Given the description of an element on the screen output the (x, y) to click on. 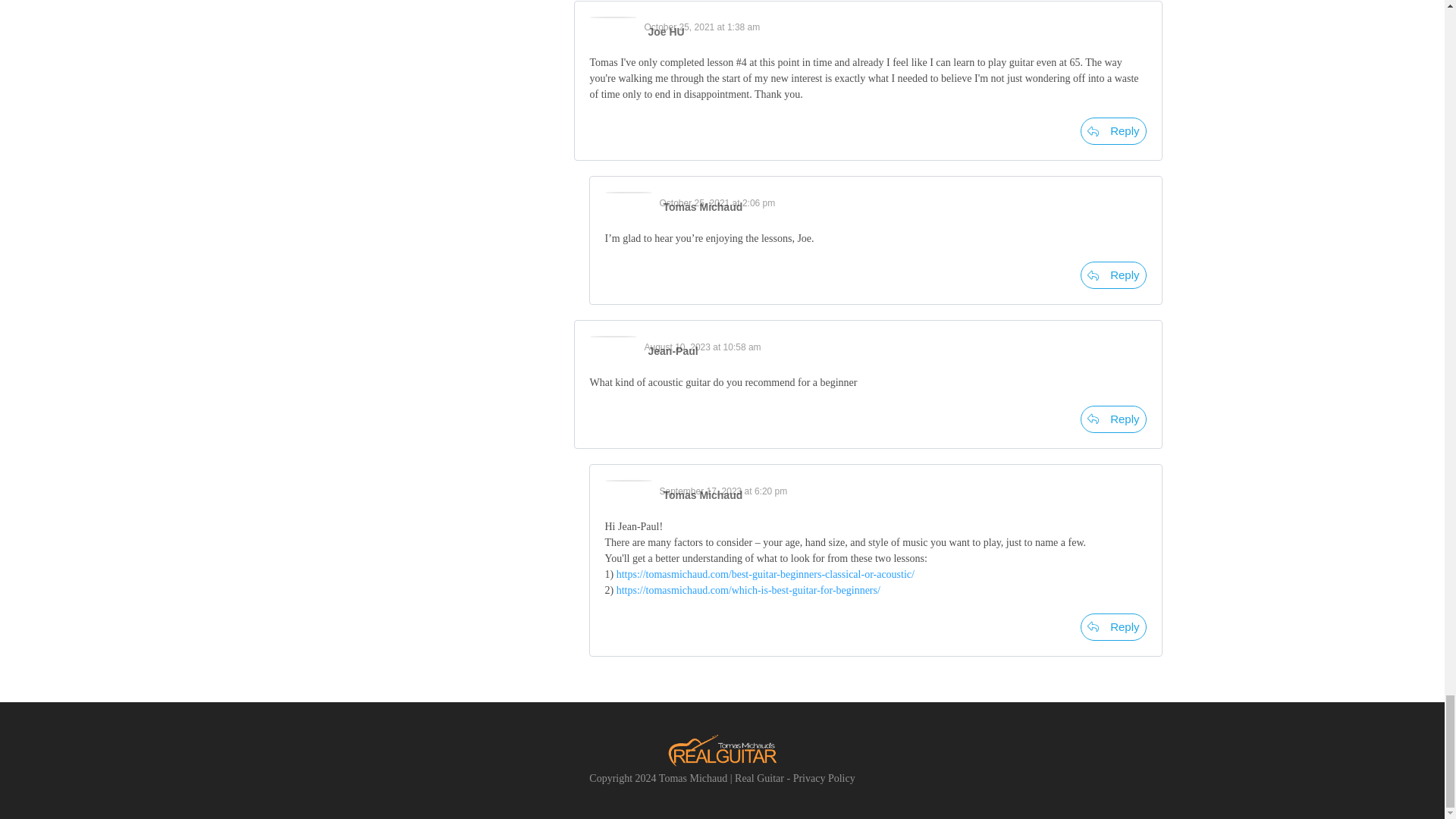
Reply (1112, 130)
October 25, 2021 at 1:38 am (702, 27)
October 25, 2021 at 2:06 pm (717, 203)
